Given the description of an element on the screen output the (x, y) to click on. 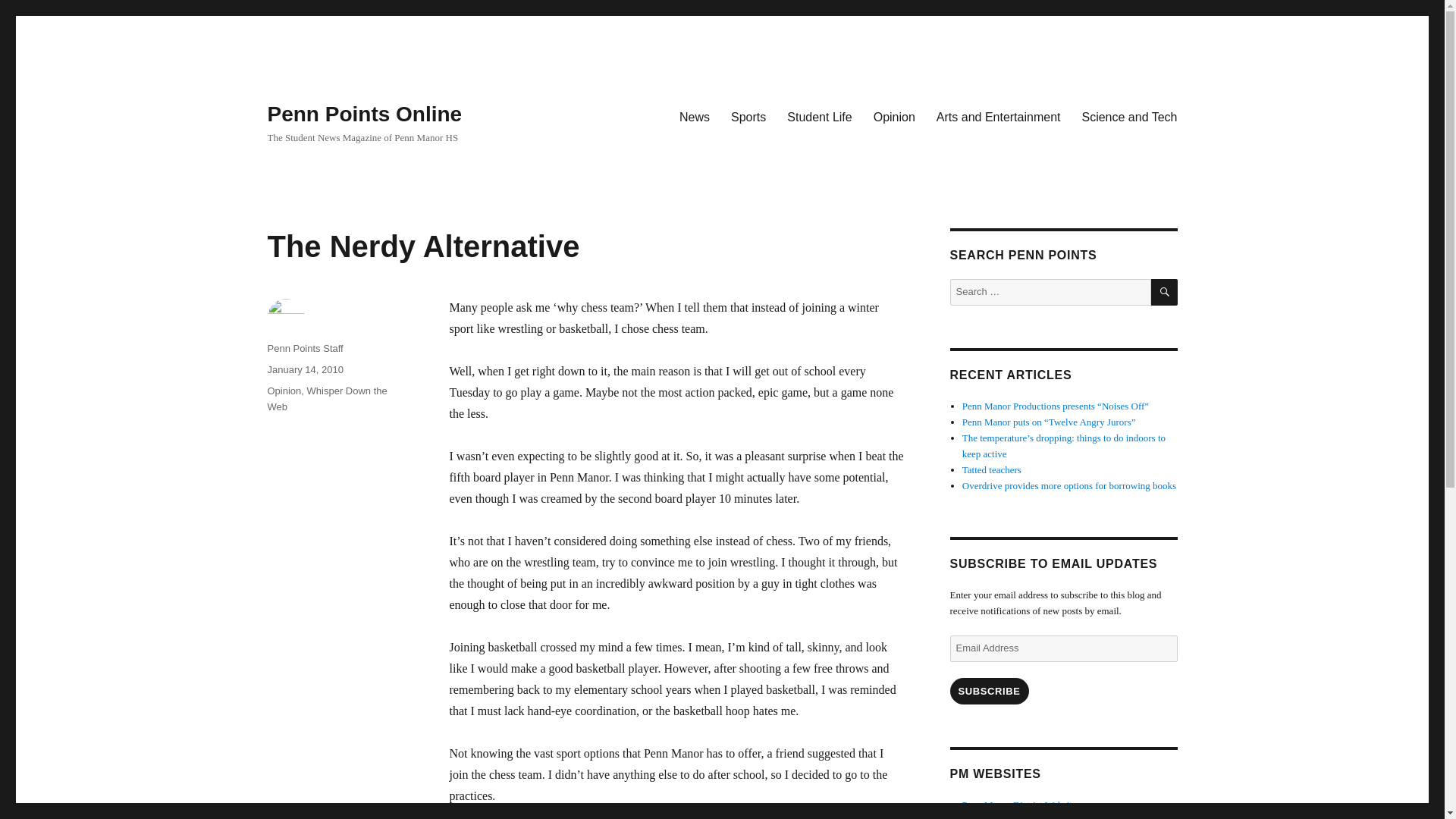
Penn Points Staff (304, 348)
Student Life (818, 116)
News (694, 116)
Science and Tech (1129, 116)
January 14, 2010 (304, 369)
Overdrive provides more options for borrowing books (1069, 485)
Opinion (283, 390)
Arts and Entertainment (998, 116)
SEARCH (1164, 292)
Penn Manor High School (1012, 816)
